Given the description of an element on the screen output the (x, y) to click on. 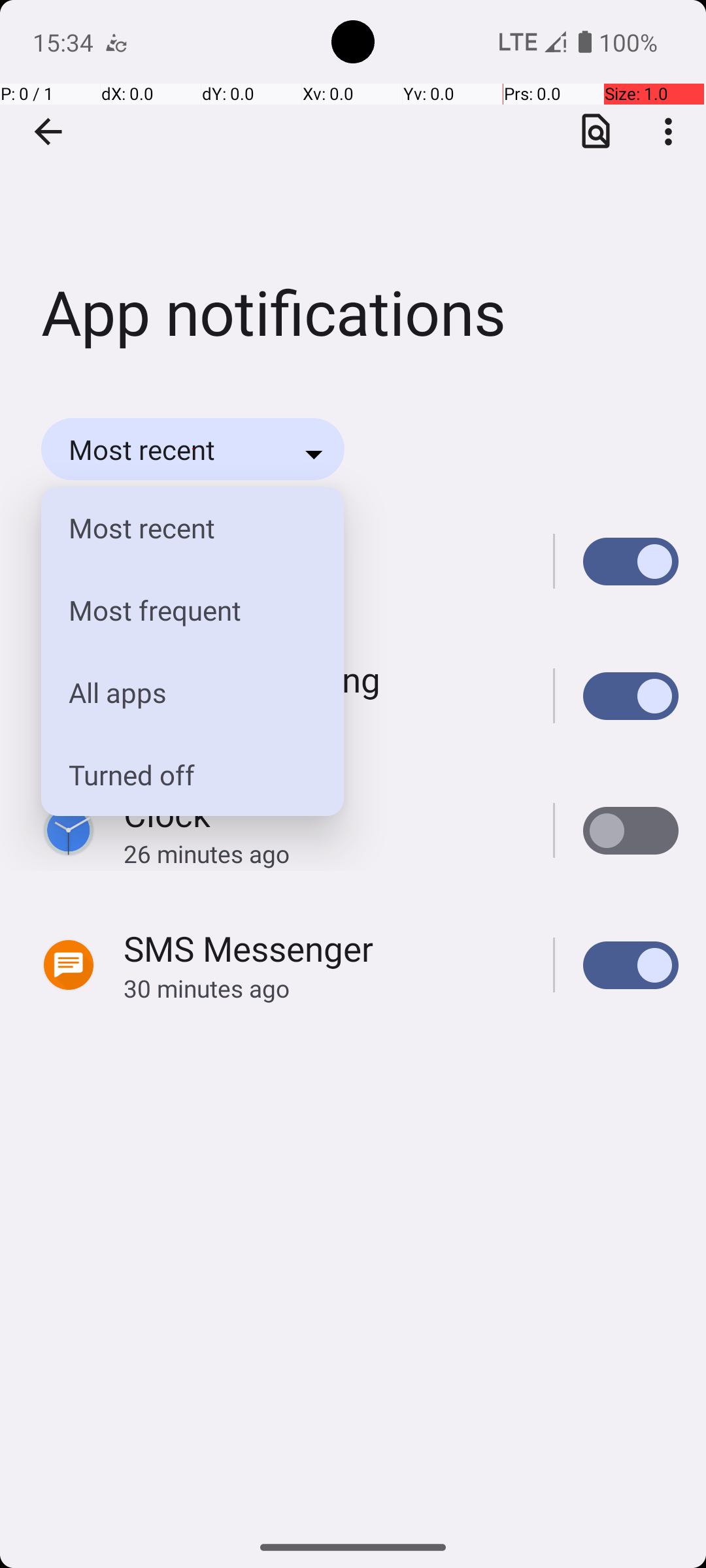
Most recent Element type: android.widget.TextView (182, 527)
Most frequent Element type: android.widget.TextView (182, 610)
All apps Element type: android.widget.TextView (182, 692)
Turned off Element type: android.widget.TextView (182, 774)
